Given the description of an element on the screen output the (x, y) to click on. 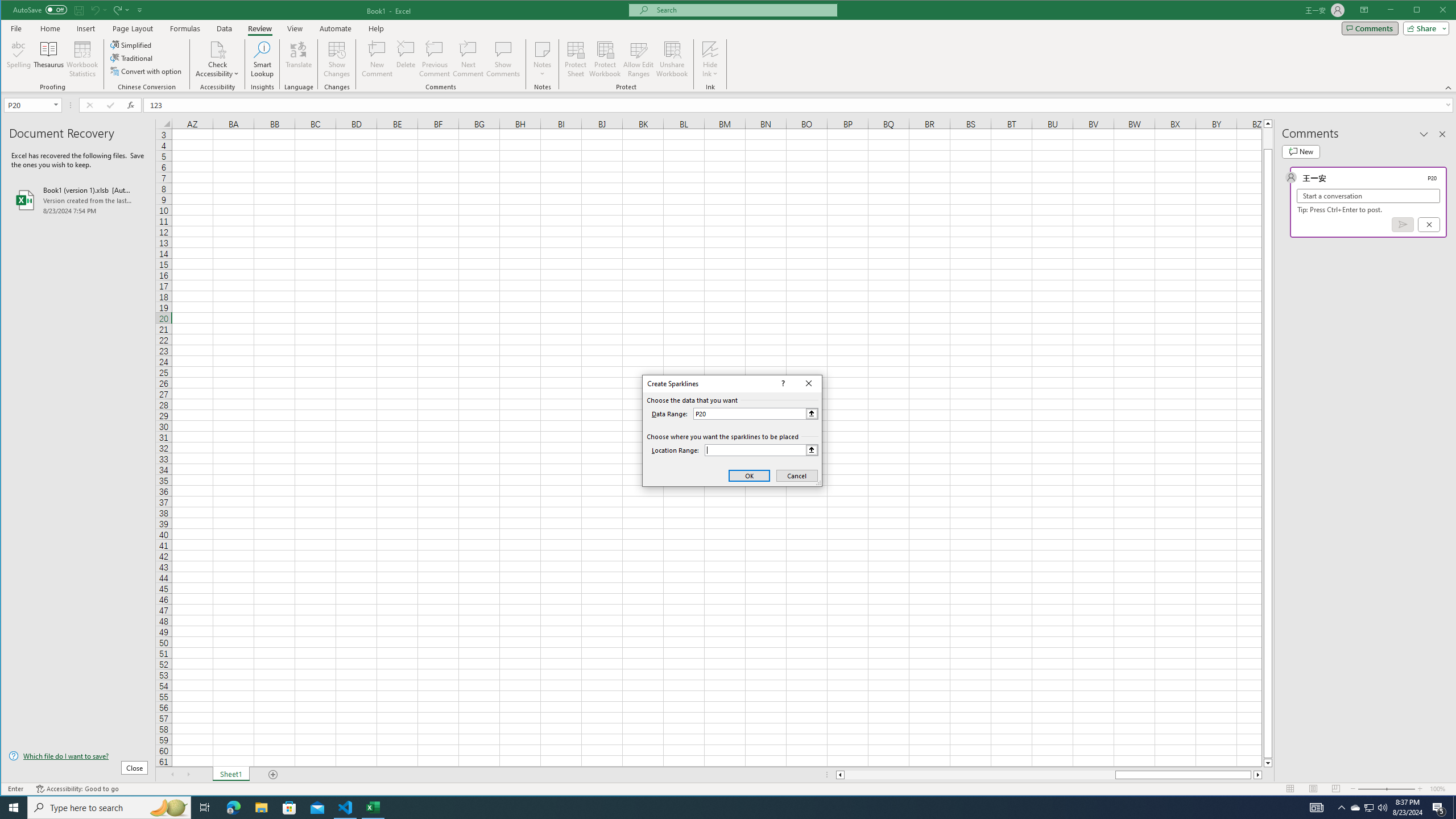
Page up (1267, 138)
Task View (204, 807)
Allow Edit Ranges (638, 59)
Spelling... (18, 59)
Check Accessibility (217, 48)
Data Range (755, 413)
New comment (1300, 151)
Page right (1251, 774)
Post comment (Ctrl + Enter) (1355, 807)
Search highlights icon opens search home window (1402, 224)
